Given the description of an element on the screen output the (x, y) to click on. 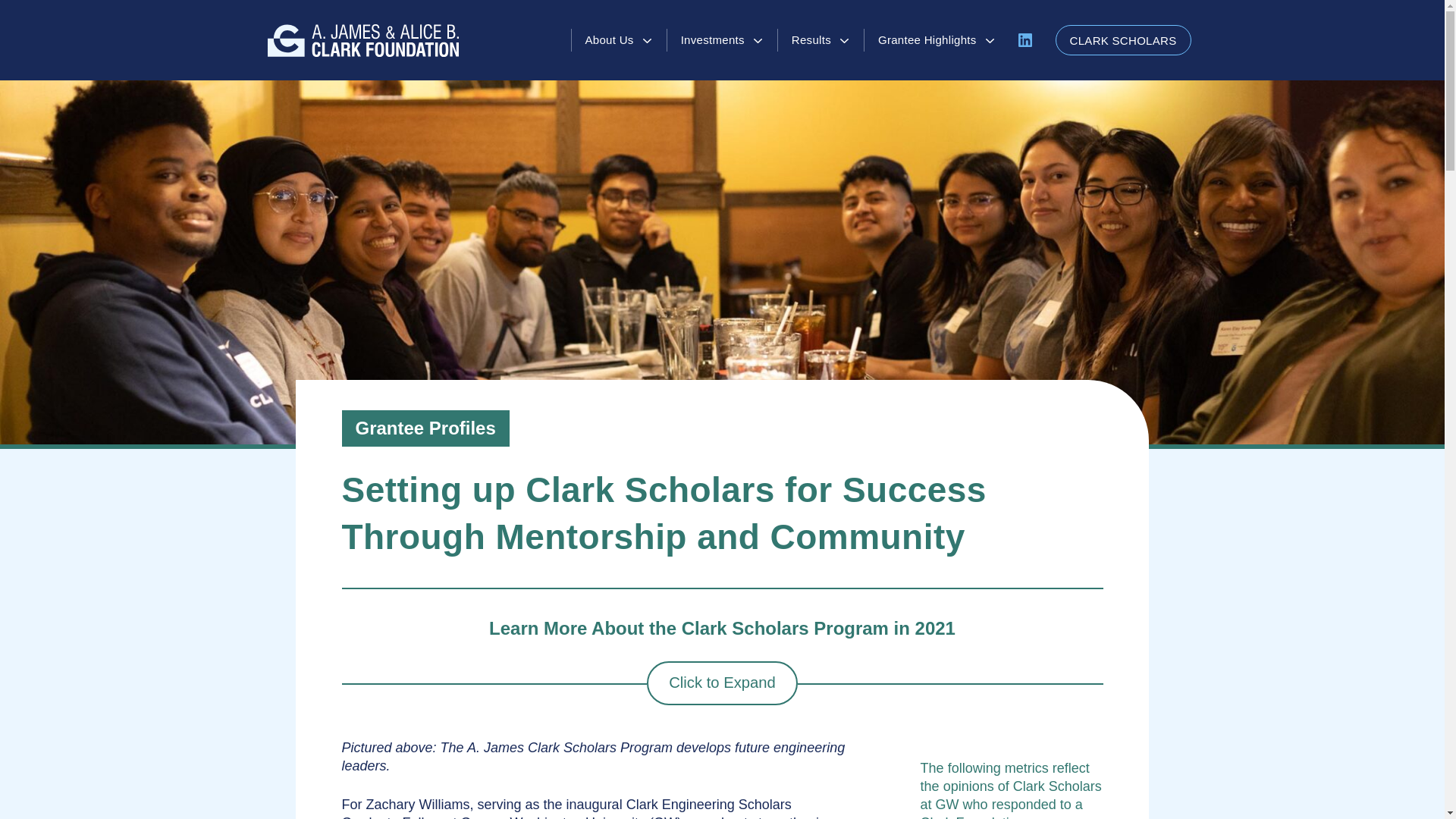
LinkedIn (1025, 39)
Click to Expand (721, 682)
About Us (619, 39)
Grantee Highlights (936, 39)
CLARK SCHOLARS (1123, 40)
Results (820, 39)
Investments (721, 39)
